Given the description of an element on the screen output the (x, y) to click on. 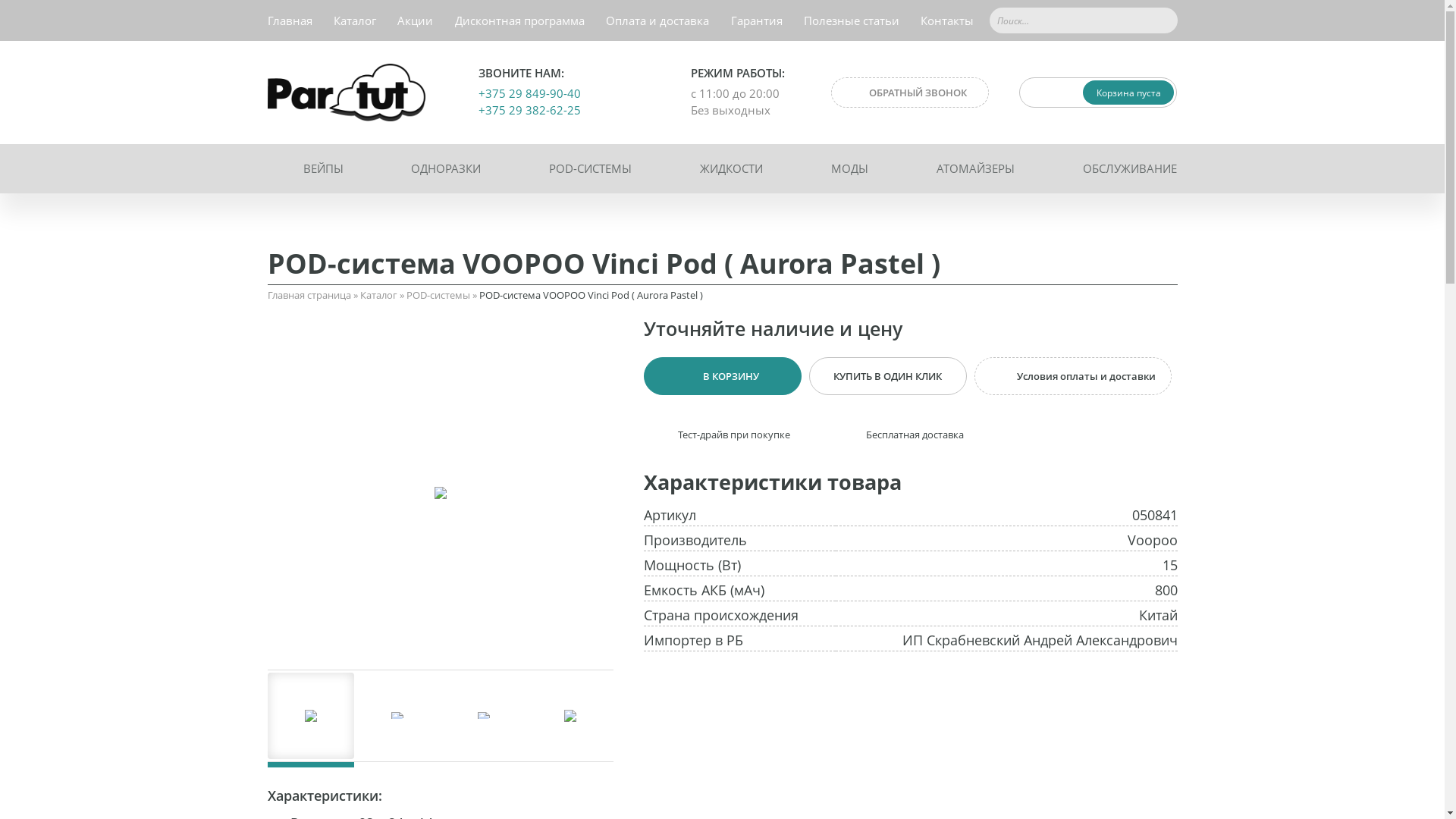
6085992861 Element type: hover (439, 492)
+375 29 382-62-25 Element type: text (529, 109)
+375 29 849-90-40 Element type: text (529, 92)
